Given the description of an element on the screen output the (x, y) to click on. 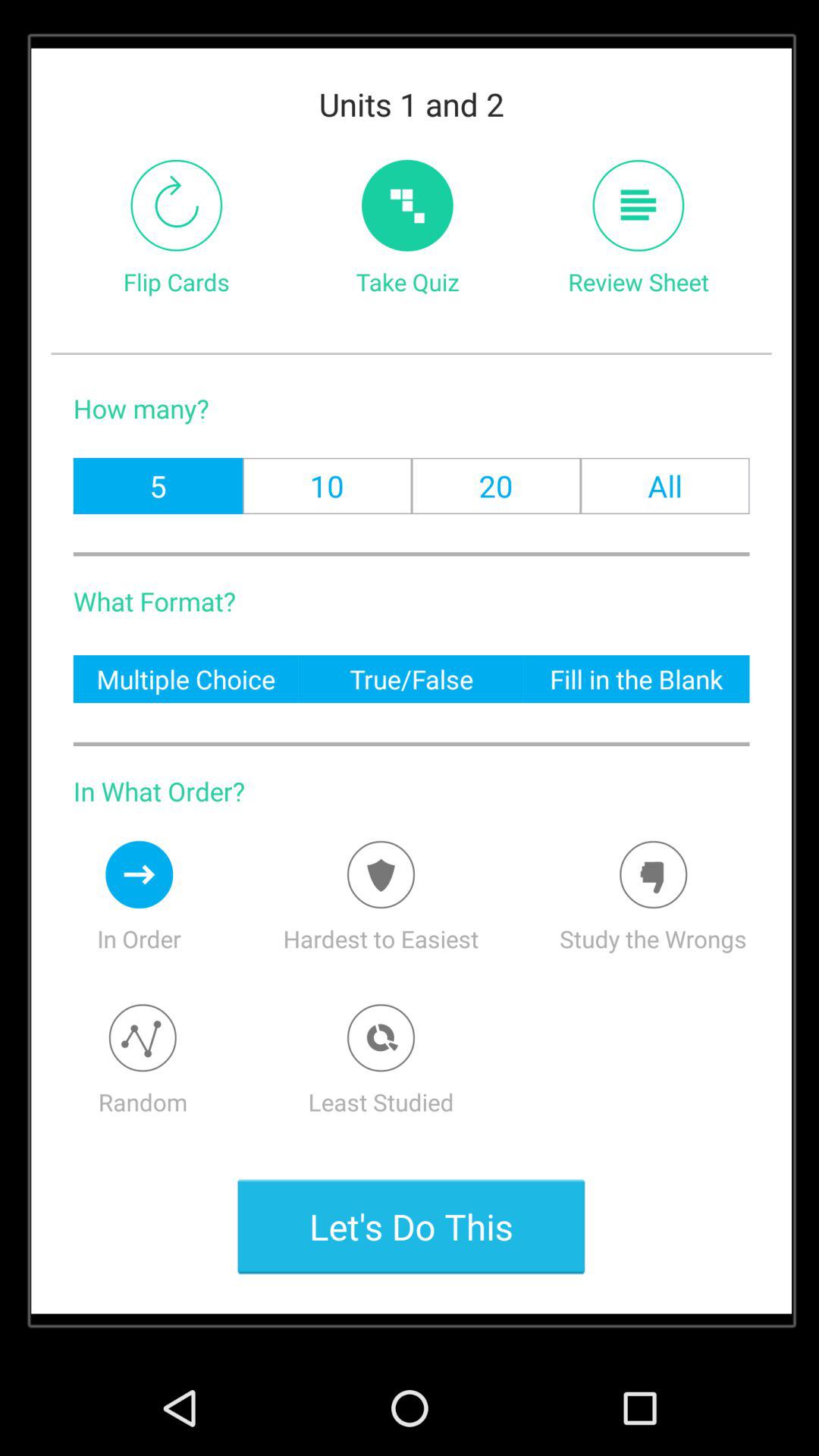
tap the let s do icon (410, 1226)
